Given the description of an element on the screen output the (x, y) to click on. 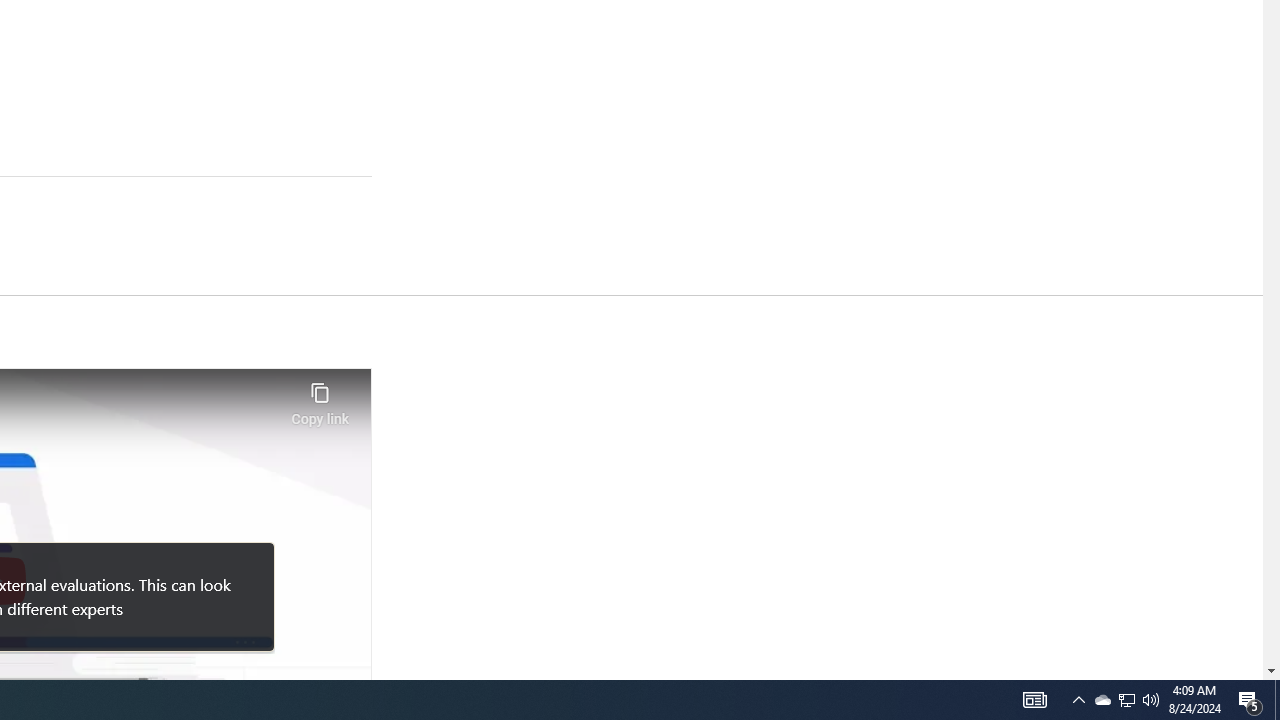
Copy link (319, 398)
